Given the description of an element on the screen output the (x, y) to click on. 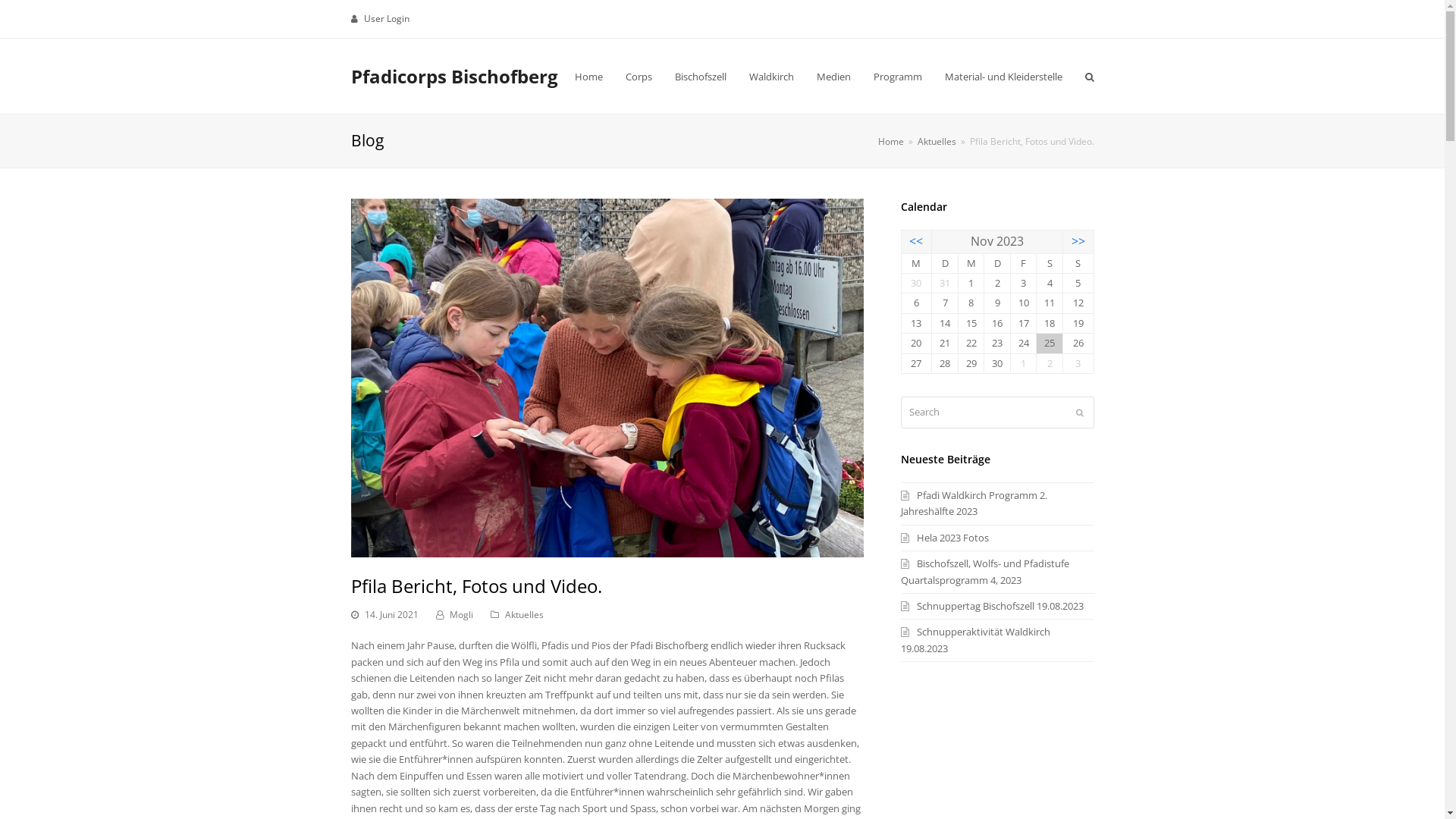
Submit Element type: text (1078, 412)
Hela 2023 Fotos Element type: text (944, 537)
>> Element type: text (1078, 240)
Corps Element type: text (638, 76)
Bischofszell, Wolfs- und Pfadistufe Quartalsprogramm 4, 2023 Element type: text (984, 571)
Home Element type: text (587, 76)
<< Element type: text (915, 240)
Pfadicorps Bischofberg Element type: text (453, 75)
Waldkirch Element type: text (770, 76)
Medien Element type: text (833, 76)
User Login Element type: text (386, 18)
Schnuppertag Bischofszell 19.08.2023 Element type: text (991, 605)
Material- und Kleiderstelle Element type: text (1002, 76)
Aktuelles Element type: text (936, 140)
Aktuelles Element type: text (524, 614)
Bischofszell Element type: text (699, 76)
Home Element type: text (890, 140)
Mogli Element type: text (460, 614)
Programm Element type: text (896, 76)
